Given the description of an element on the screen output the (x, y) to click on. 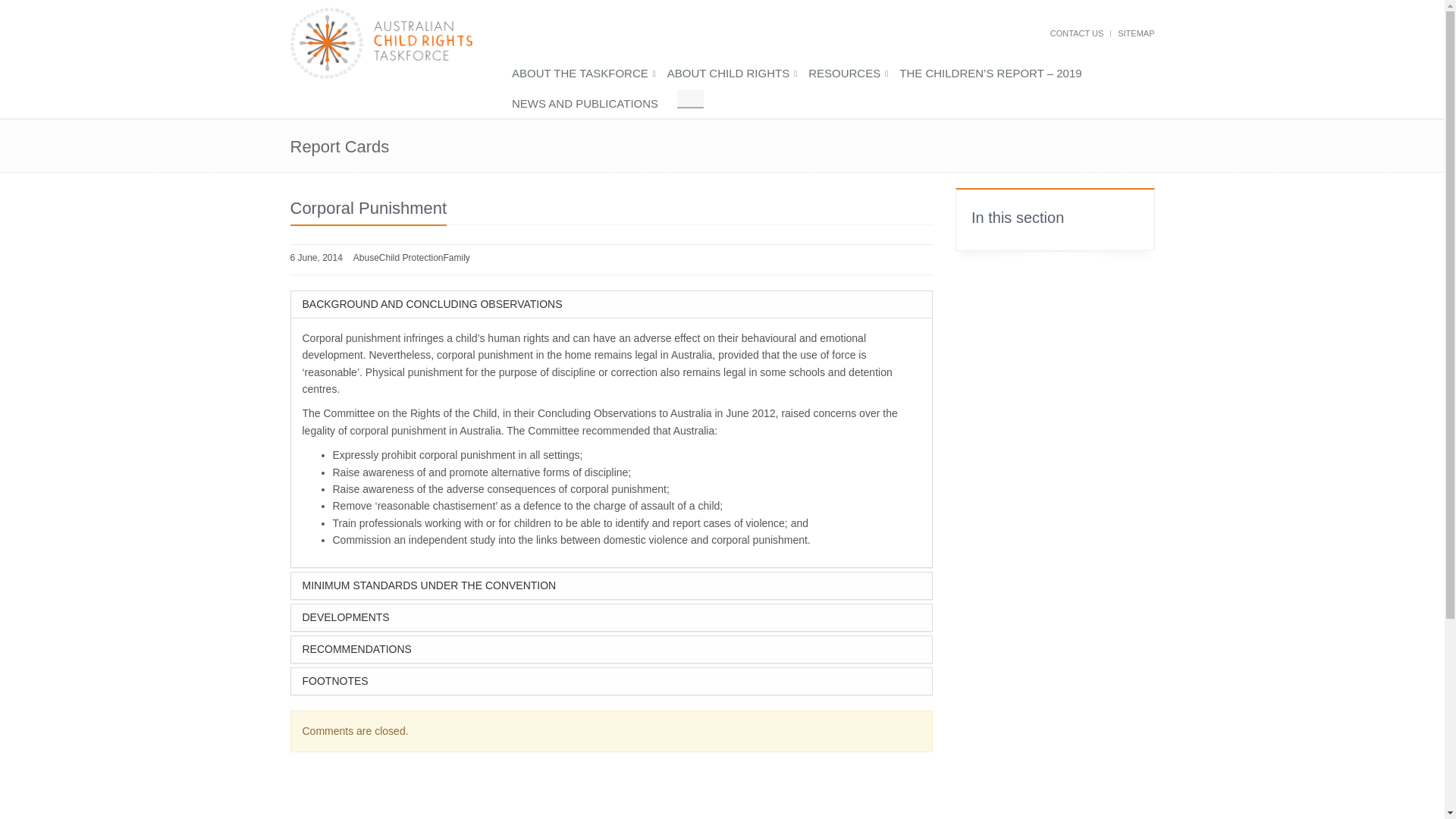
NEWS AND PUBLICATIONS (594, 104)
BACKGROUND AND CONCLUDING OBSERVATIONS (612, 304)
ABOUT THE TASKFORCE (589, 73)
CONTACT US (1076, 32)
SITEMAP (1136, 32)
RECOMMENDATIONS (612, 649)
MINIMUM STANDARDS UNDER THE CONVENTION (612, 585)
ABOUT CHILD RIGHTS (737, 73)
FOOTNOTES (612, 681)
RESOURCES (853, 73)
DEVELOPMENTS (612, 617)
